Given the description of an element on the screen output the (x, y) to click on. 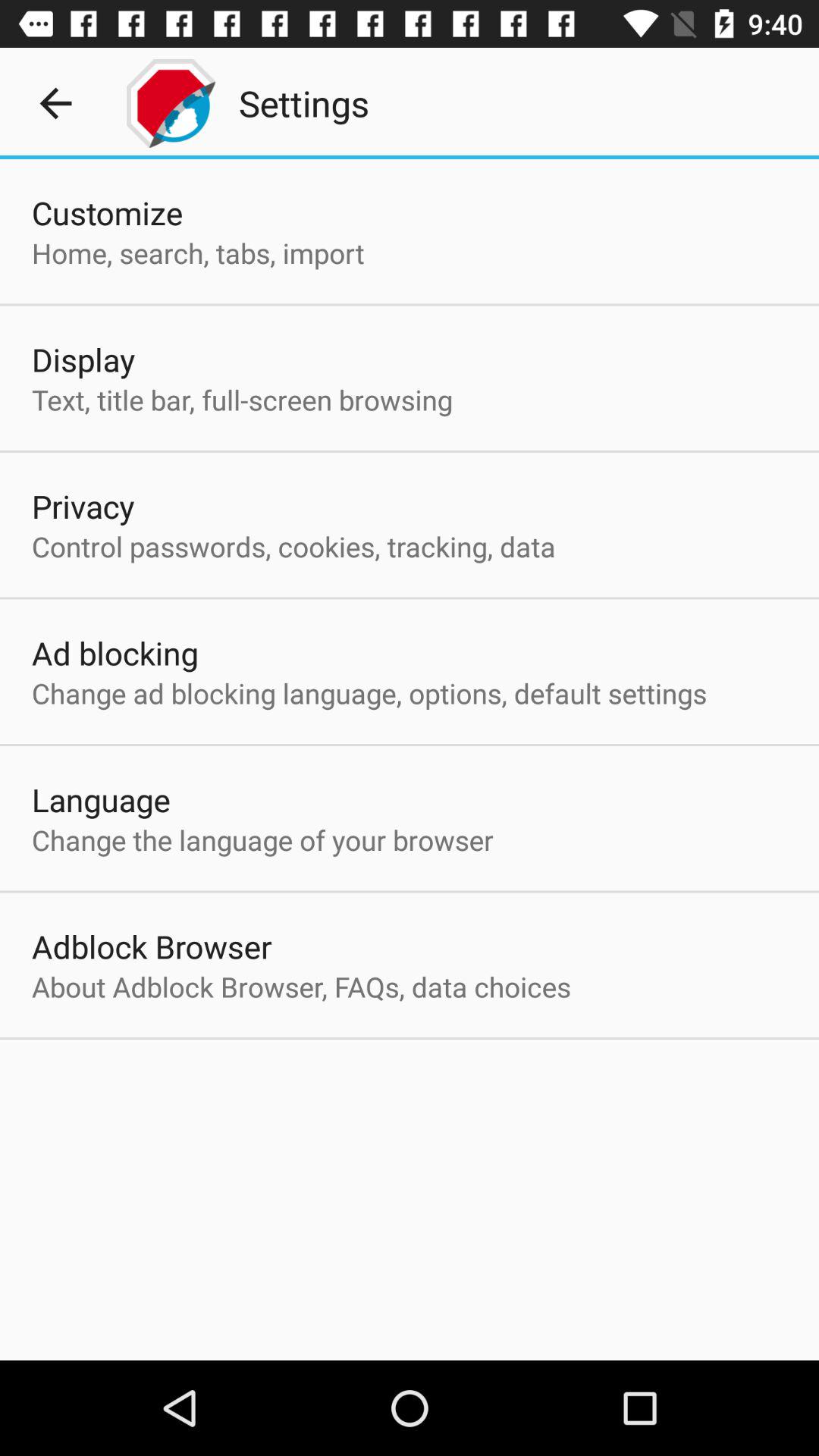
choose control passwords cookies item (293, 546)
